Given the description of an element on the screen output the (x, y) to click on. 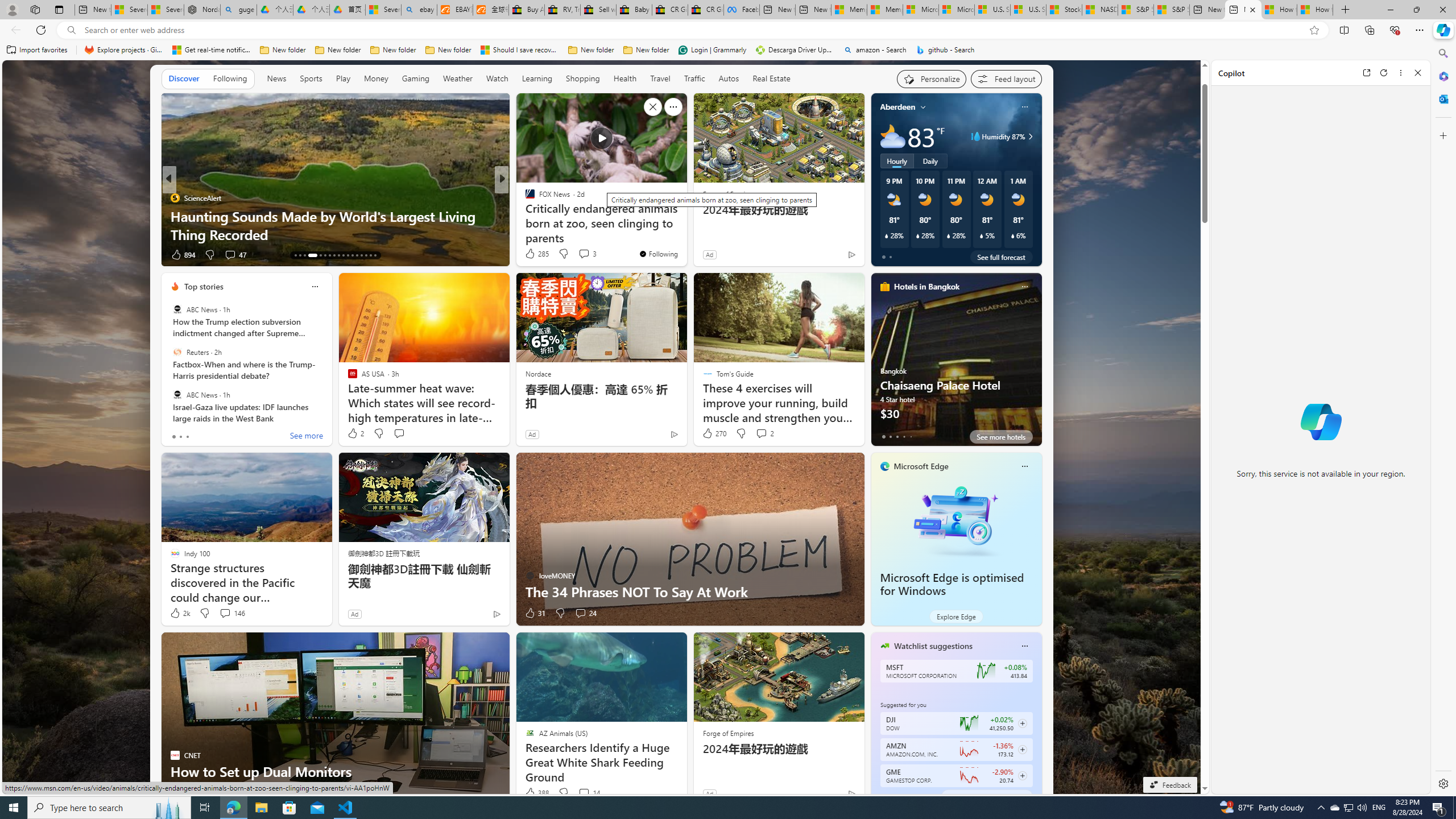
RV, Trailer & Camper Steps & Ladders for sale | eBay (562, 9)
1k Like (530, 254)
Play (342, 79)
How to Use a Monitor With Your Closed Laptop (1315, 9)
App bar (728, 29)
View comments 14 Comment (583, 792)
Sell worldwide with eBay (598, 9)
Weather (457, 78)
Shopping (582, 78)
Daily (929, 160)
Animals Around The Globe (US) (524, 215)
